Given the description of an element on the screen output the (x, y) to click on. 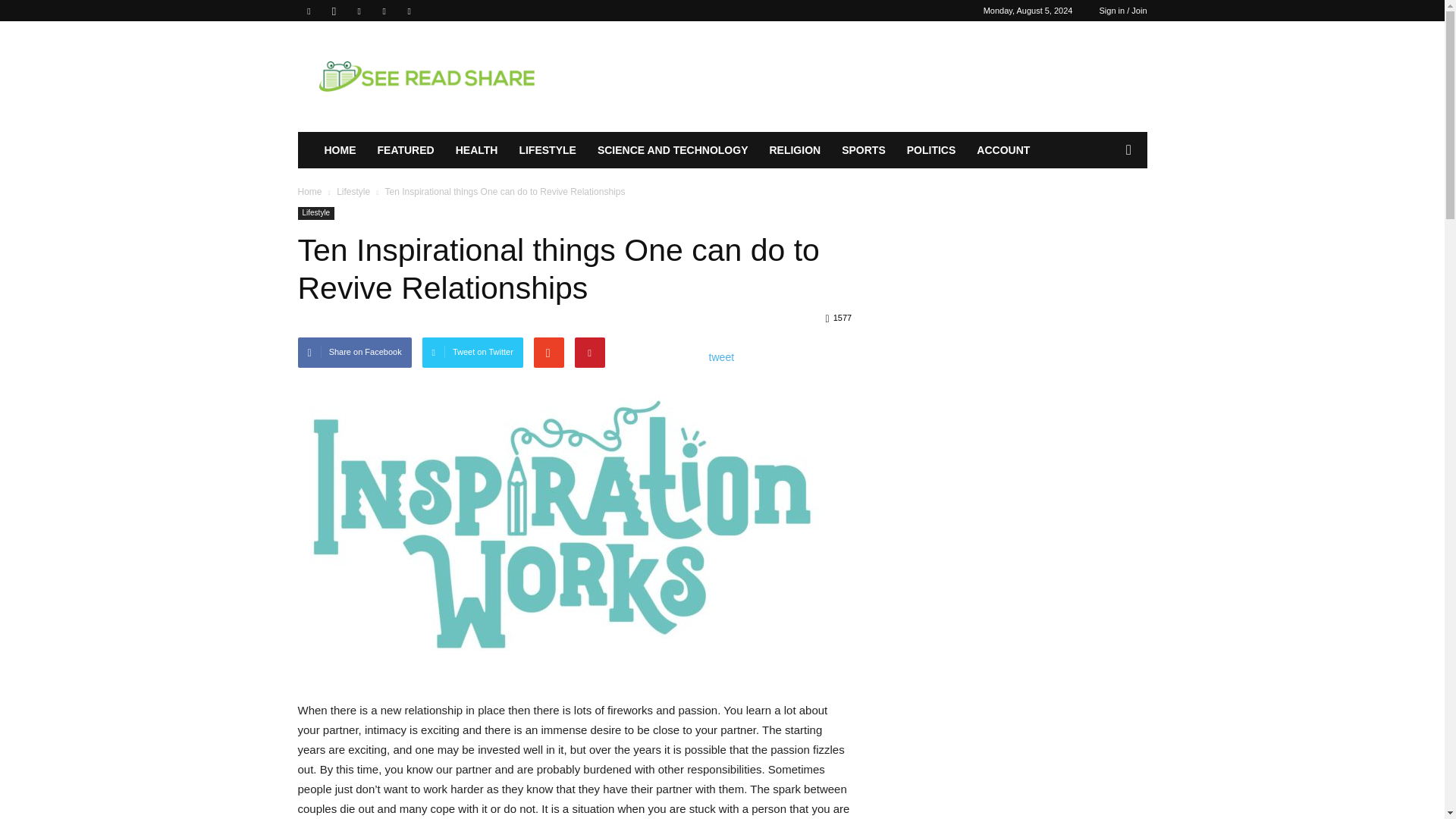
RSS (384, 10)
Facebook (308, 10)
Pinterest (359, 10)
View all posts in Lifestyle (352, 191)
Twitter (408, 10)
Instagram (334, 10)
